Given the description of an element on the screen output the (x, y) to click on. 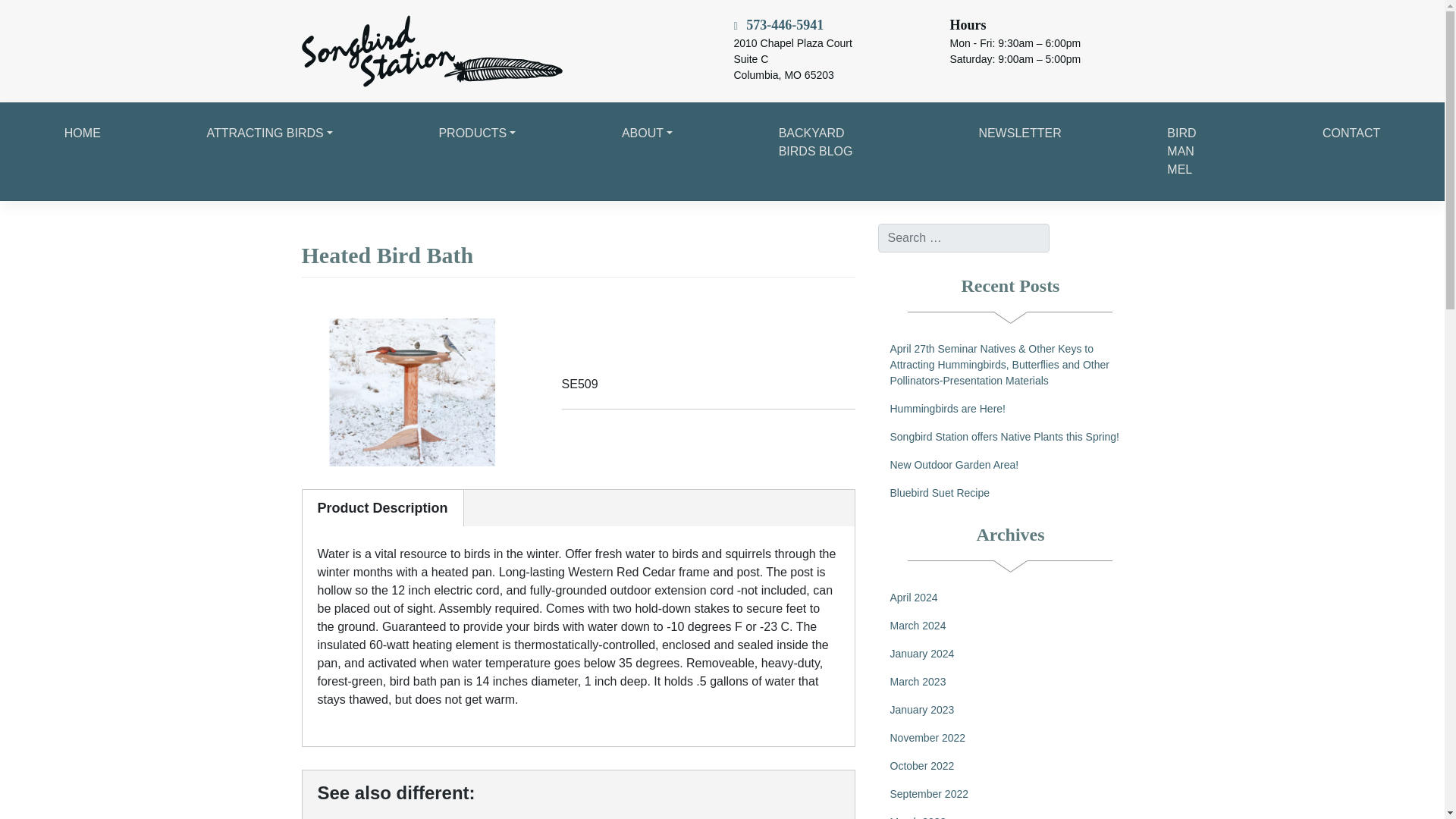
ATTRACTING BIRDS (269, 133)
PRODUCTS (477, 133)
BACKYARD BIRDS BLOG (825, 142)
CONTACT (1350, 133)
   573-446-5941 (778, 25)
ABOUT (647, 133)
Products (477, 133)
NEWSLETTER (1020, 133)
Attracting Birds (269, 133)
HOME (82, 133)
BIRD MAN MEL (1192, 151)
Home (82, 133)
